Given the description of an element on the screen output the (x, y) to click on. 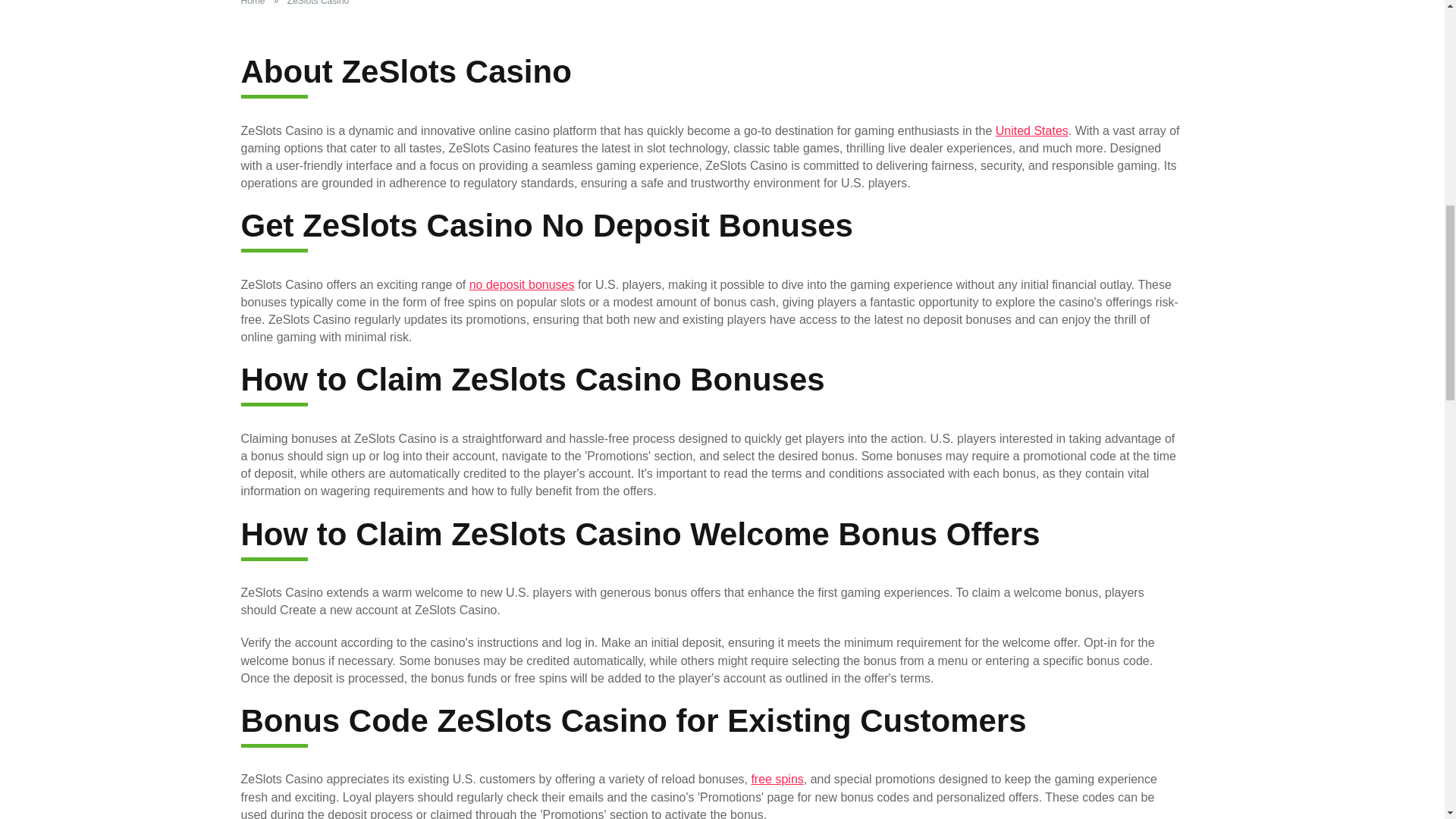
United States (1031, 130)
no deposit bonuses (521, 284)
free spins (777, 779)
Home (255, 2)
